Given the description of an element on the screen output the (x, y) to click on. 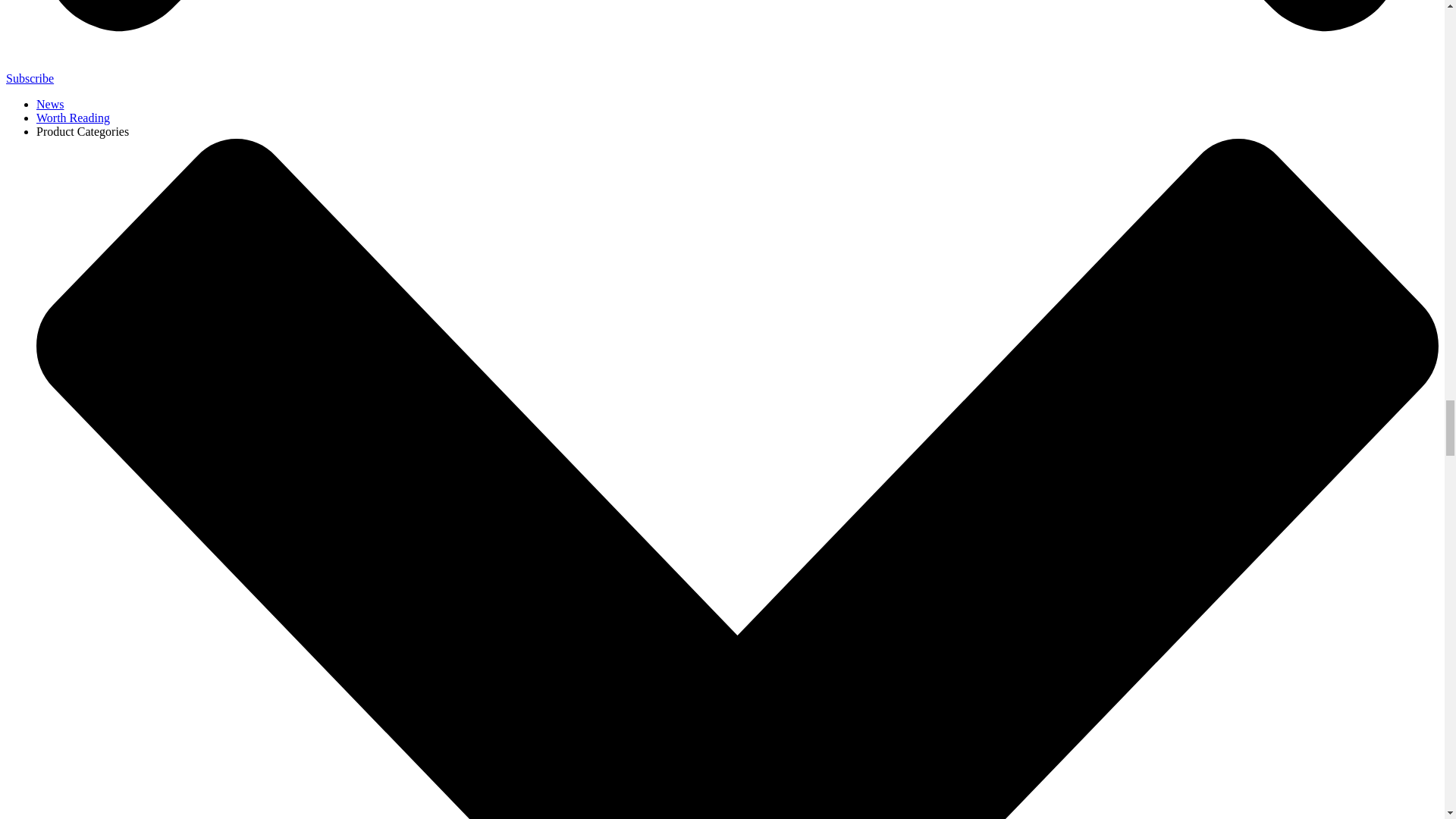
Subscribe (29, 78)
News (50, 103)
Product Categories (82, 131)
Worth Reading (73, 117)
